Given the description of an element on the screen output the (x, y) to click on. 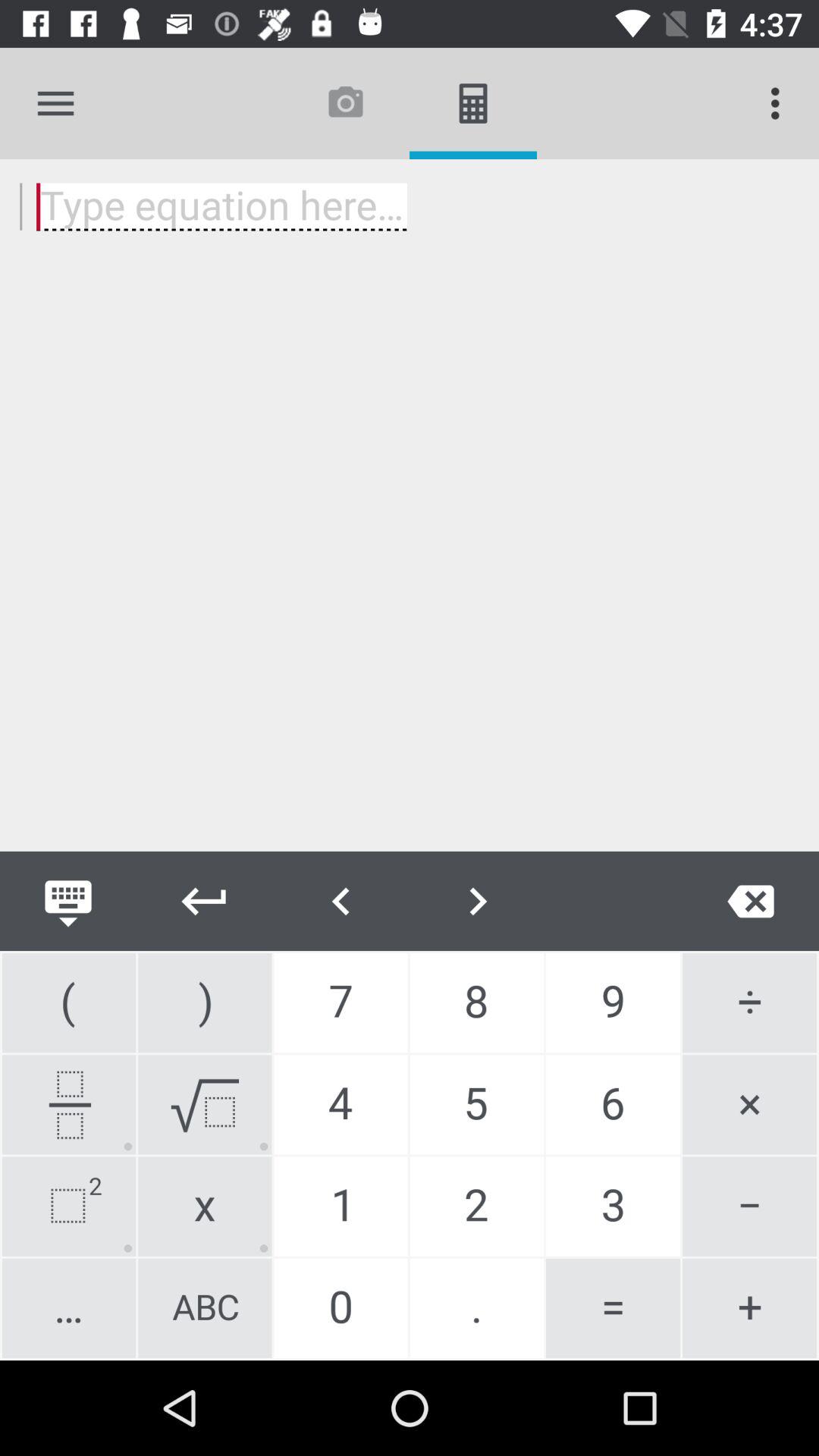
go back (204, 900)
